Given the description of an element on the screen output the (x, y) to click on. 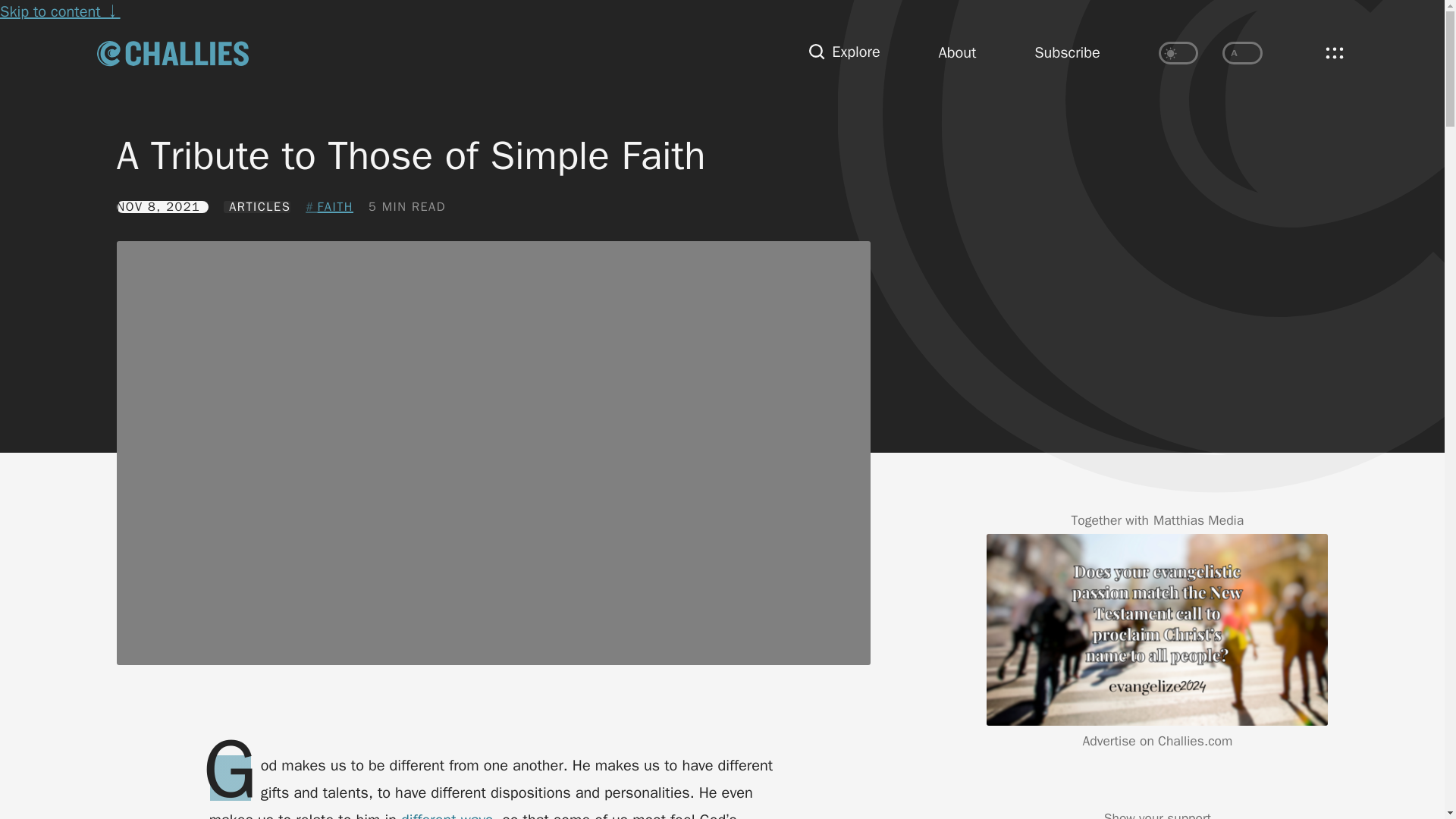
Nov 8, 2021 at 1:01 am (162, 206)
Challies logo (172, 51)
Challies logo (172, 53)
Advertise on Challies.com (1158, 740)
Subscribe (1066, 52)
ARTICLES (257, 206)
Matthias Media (1198, 520)
different ways (447, 814)
Switch large size (1242, 53)
FAITH (329, 207)
758 words (406, 206)
NOV 8, 2021 (162, 206)
Explore (844, 53)
Switch dark mode (1178, 53)
on (1178, 53)
